Given the description of an element on the screen output the (x, y) to click on. 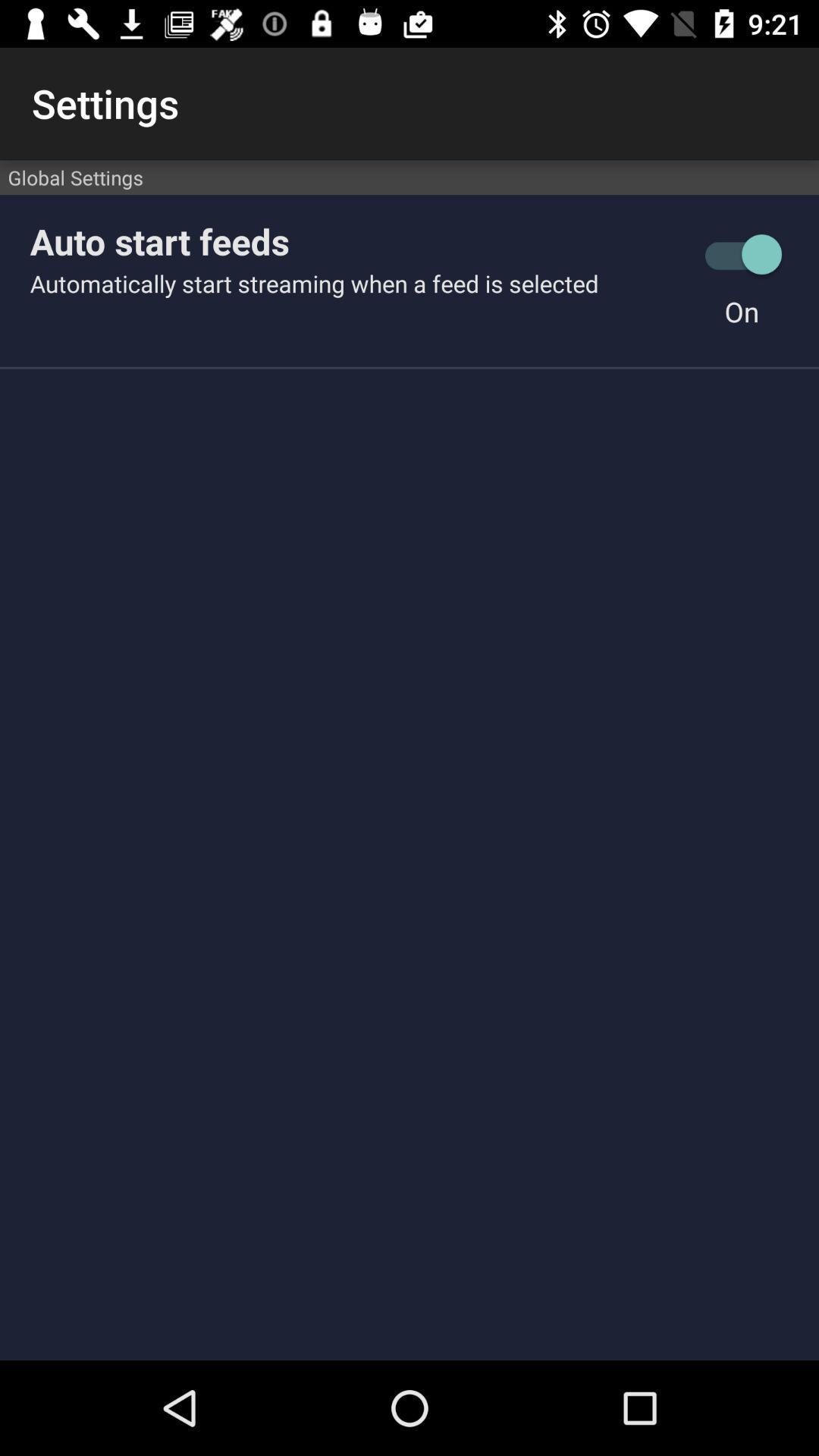
press icon to the right of automatically start streaming (741, 311)
